Given the description of an element on the screen output the (x, y) to click on. 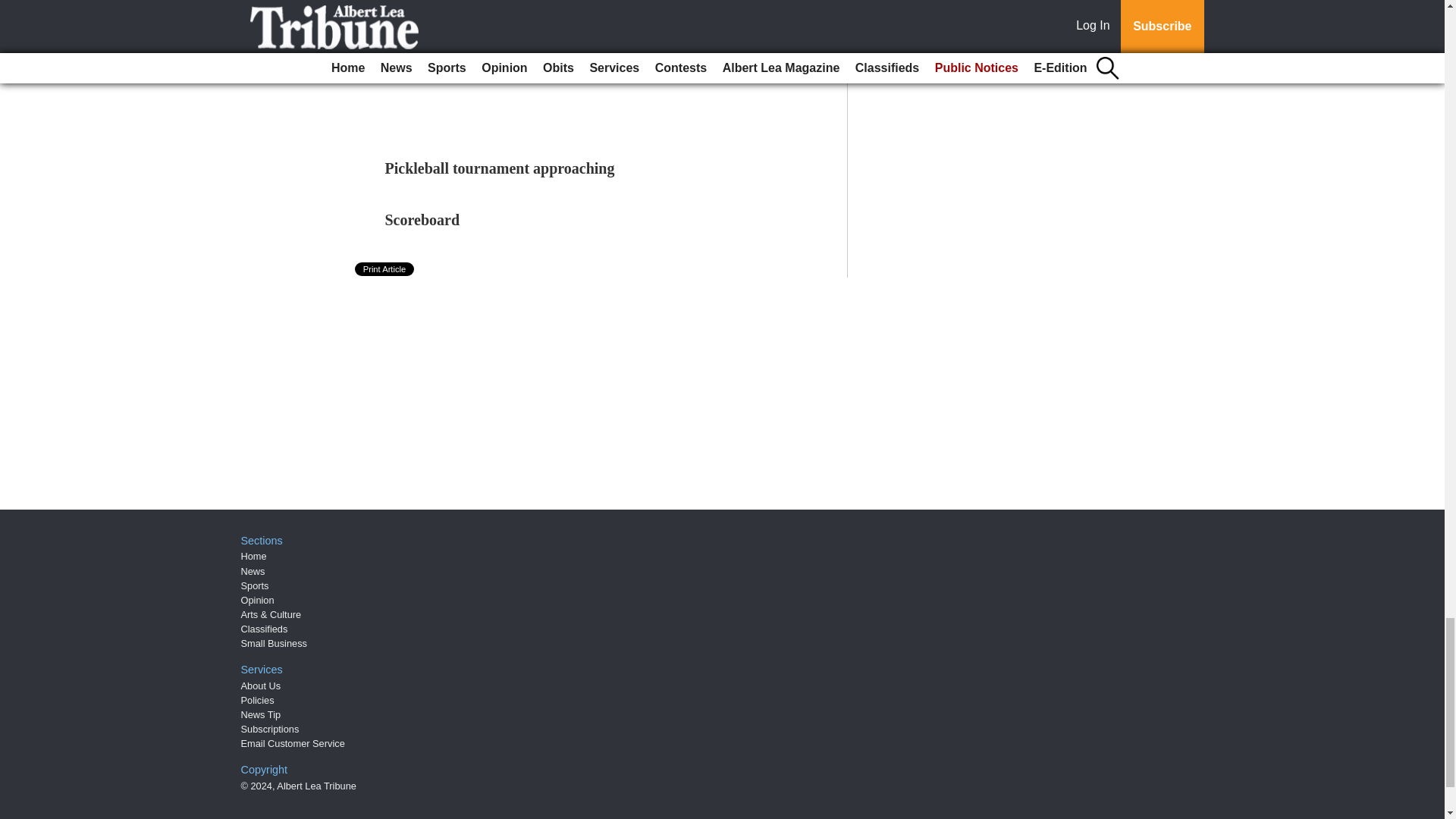
Pickleball tournament approaching (499, 167)
Hole-in-one at Green Lea (467, 33)
Scoreboard (422, 219)
